Given the description of an element on the screen output the (x, y) to click on. 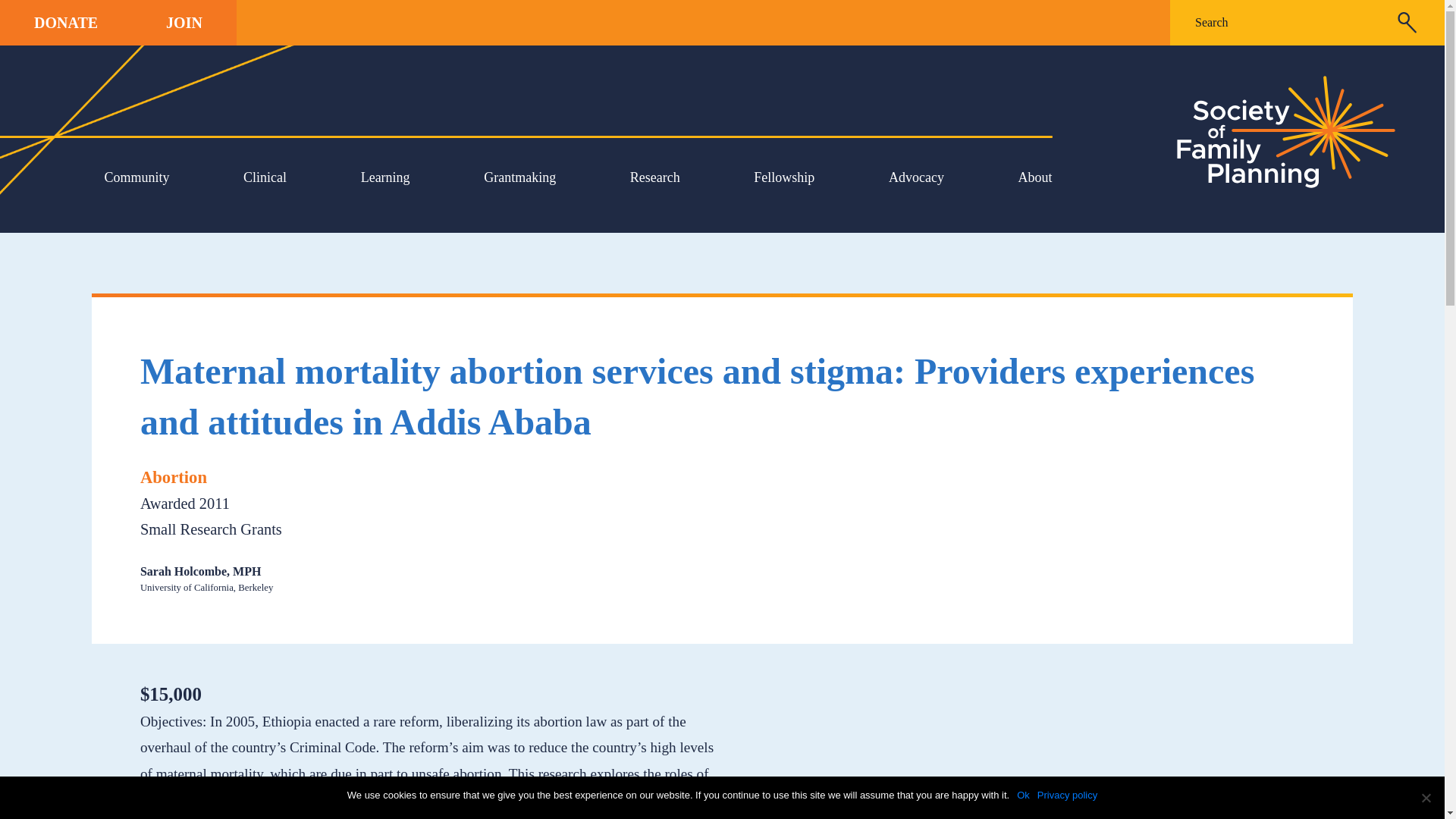
No (1425, 797)
